Given the description of an element on the screen output the (x, y) to click on. 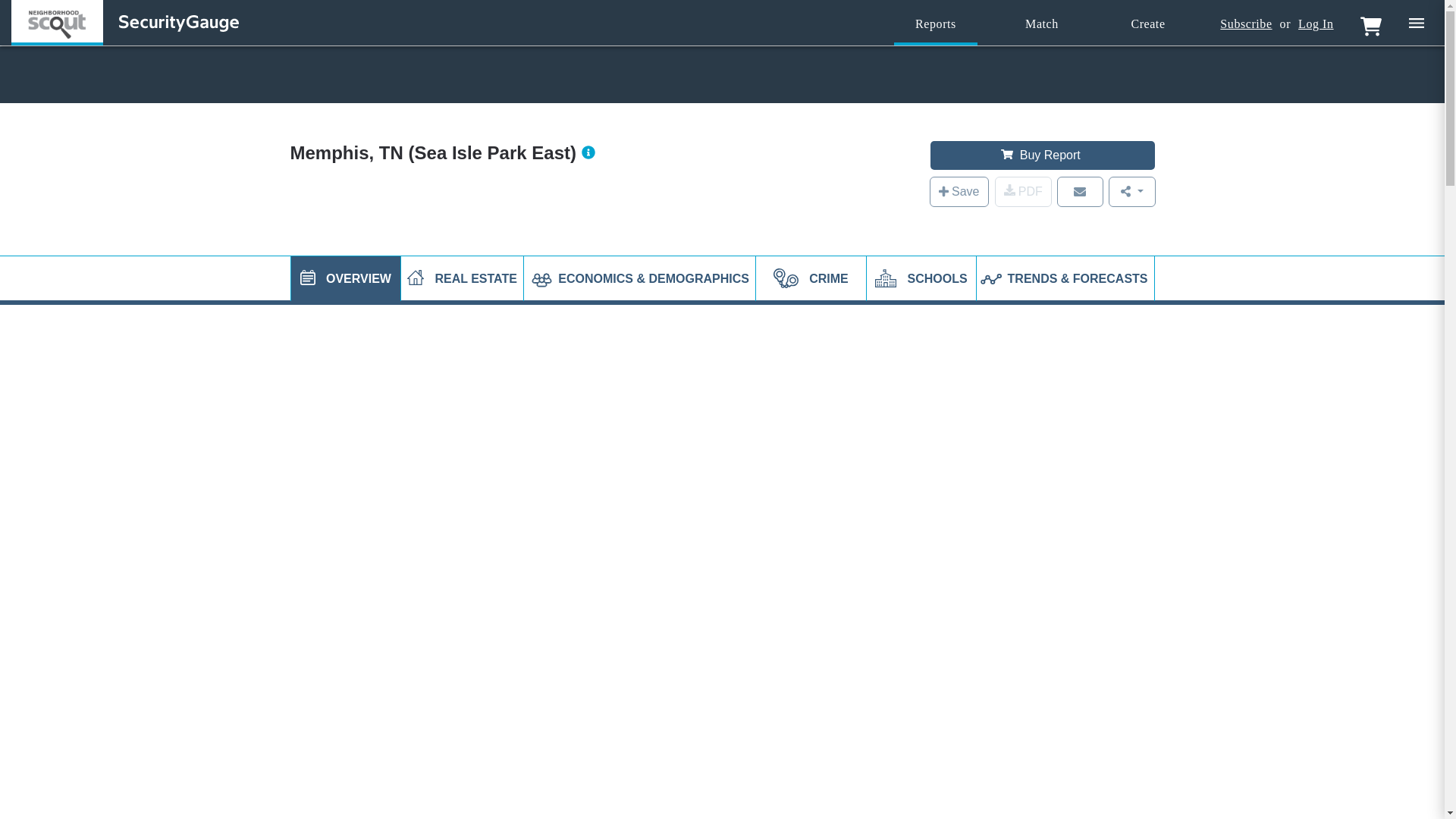
Create (1147, 24)
Log In (1315, 24)
Subscribe (1245, 24)
j (307, 277)
Match (1041, 24)
Reports (934, 24)
